Given the description of an element on the screen output the (x, y) to click on. 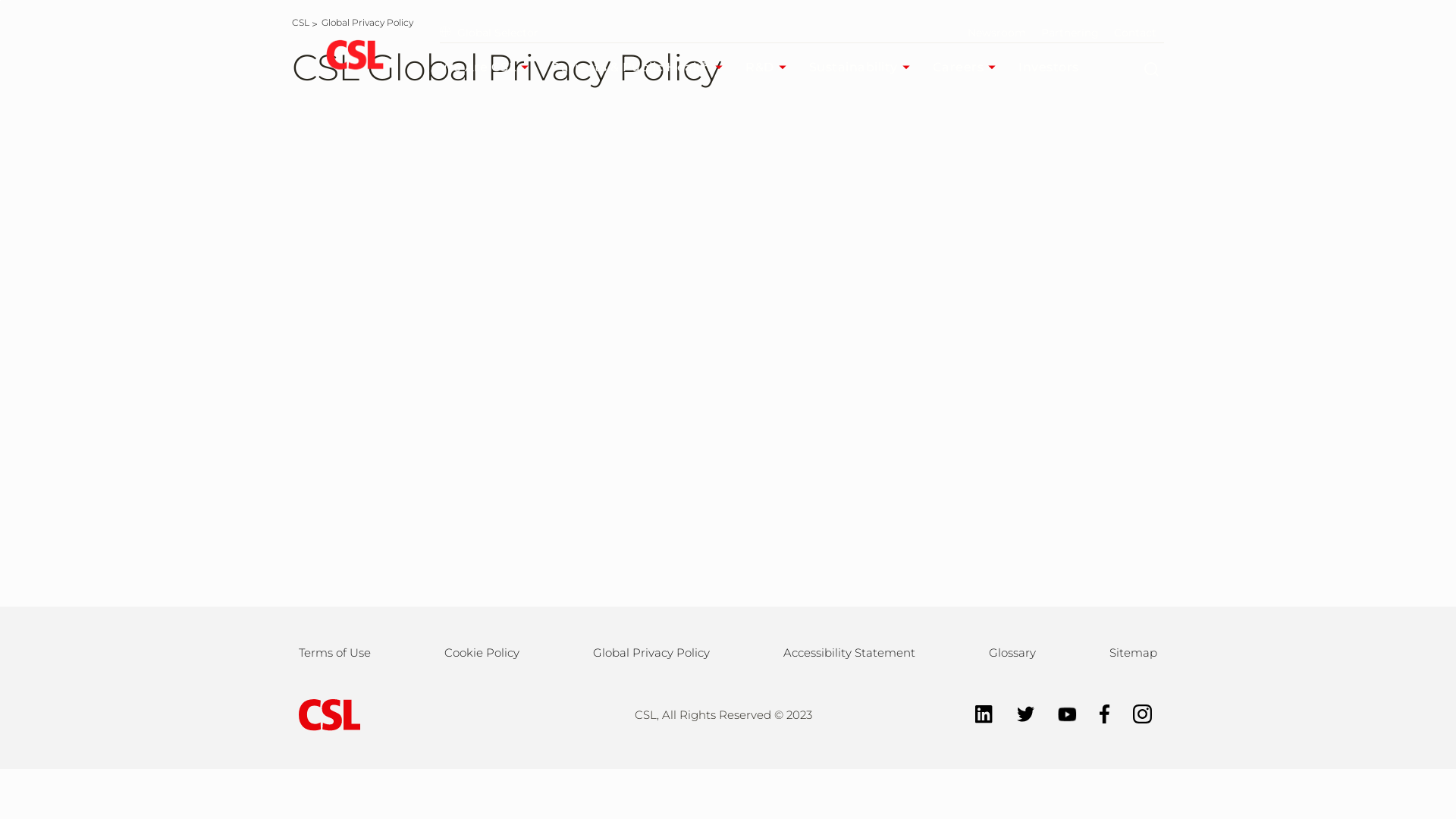
Skip to main content Element type: text (0, 0)
Patients & Public Health Element type: text (640, 67)
Investors Element type: text (1058, 67)
Global Privacy Policy Element type: text (367, 22)
Glossary Element type: text (1012, 652)
Terms of Use Element type: text (334, 652)
Cookie Policy Element type: text (481, 652)
Partnering Element type: text (1069, 32)
Global Selector Element type: text (488, 32)
R&D Element type: text (769, 67)
Sustainability Element type: text (862, 67)
Contact Element type: text (1134, 32)
CSL Element type: text (300, 22)
We Are CSL Element type: text (487, 67)
Newsroom Element type: text (996, 32)
Accessibility Statement Element type: text (848, 652)
Global Privacy Policy Element type: text (651, 652)
Careers Element type: text (968, 67)
Sitemap Element type: text (1132, 652)
